Given the description of an element on the screen output the (x, y) to click on. 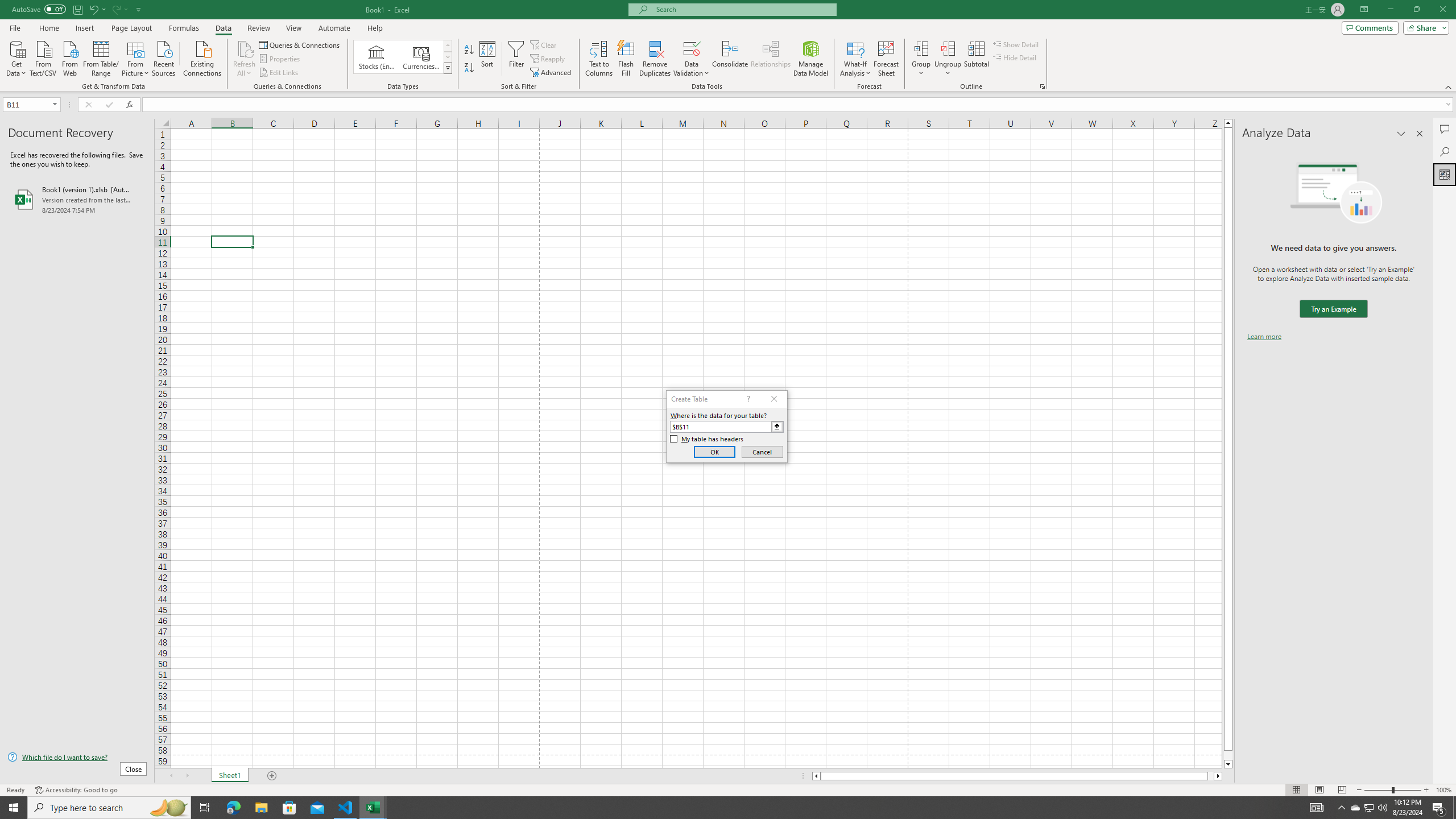
Subtotal (976, 58)
Advanced... (551, 72)
Row Down (448, 56)
We need data to give you answers. Try an Example (1333, 308)
Clear (544, 44)
Remove Duplicates (654, 58)
